Given the description of an element on the screen output the (x, y) to click on. 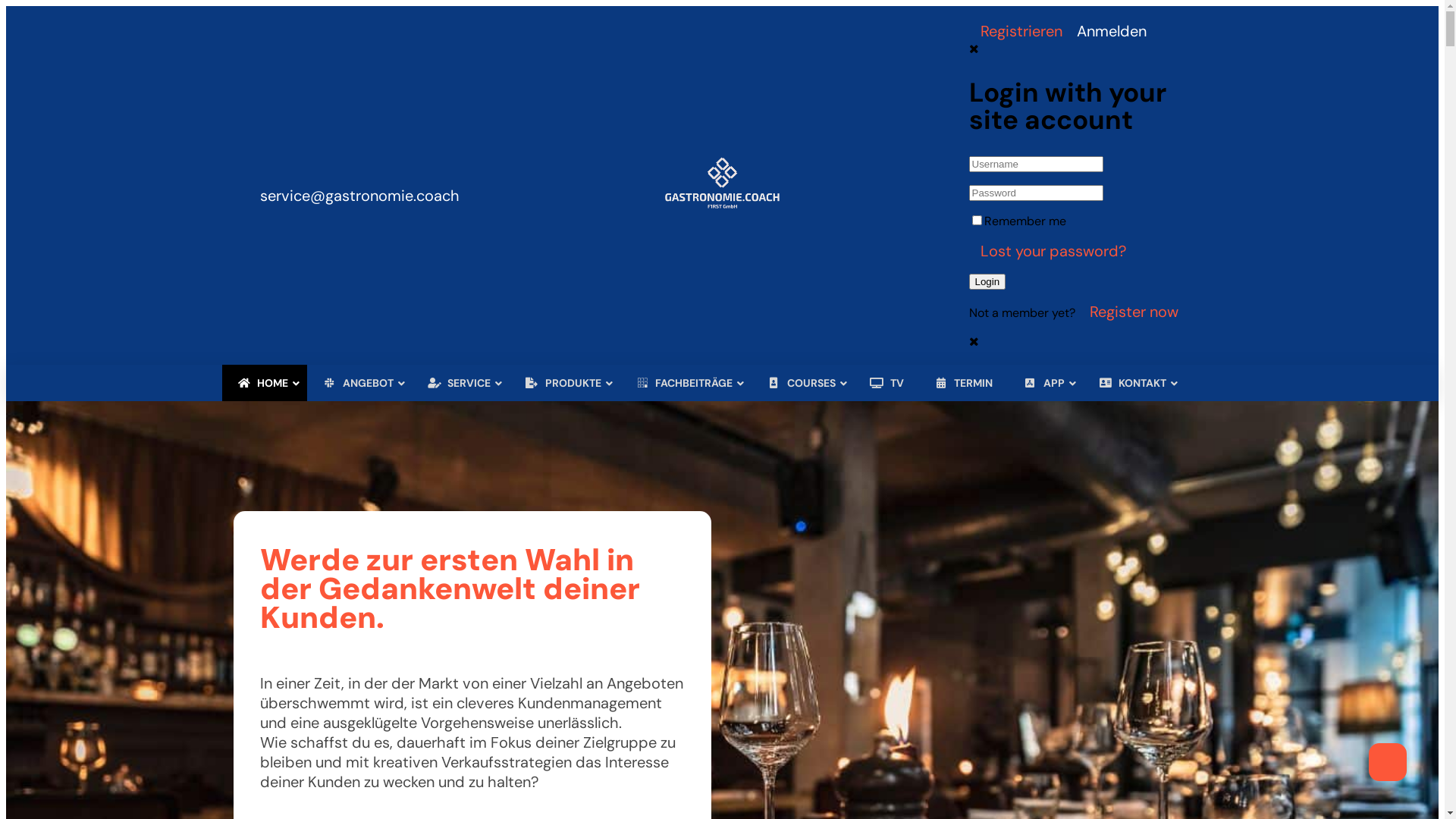
KONTAKT Element type: text (1134, 382)
HOME Element type: text (264, 382)
COURSES Element type: text (802, 382)
Lost your password? Element type: text (1048, 250)
Register now Element type: text (1129, 311)
Gastronomie.coachII-logo weiss Element type: hover (722, 205)
APP Element type: text (1045, 382)
SERVICE Element type: text (461, 382)
service@gastronomie.coach Element type: text (358, 185)
Registrieren Element type: text (1016, 30)
Login Element type: text (987, 281)
Anmelden Element type: text (1107, 30)
ANGEBOT Element type: text (359, 382)
PRODUKTE Element type: text (564, 382)
TV Element type: text (886, 382)
TERMIN Element type: text (963, 382)
